Given the description of an element on the screen output the (x, y) to click on. 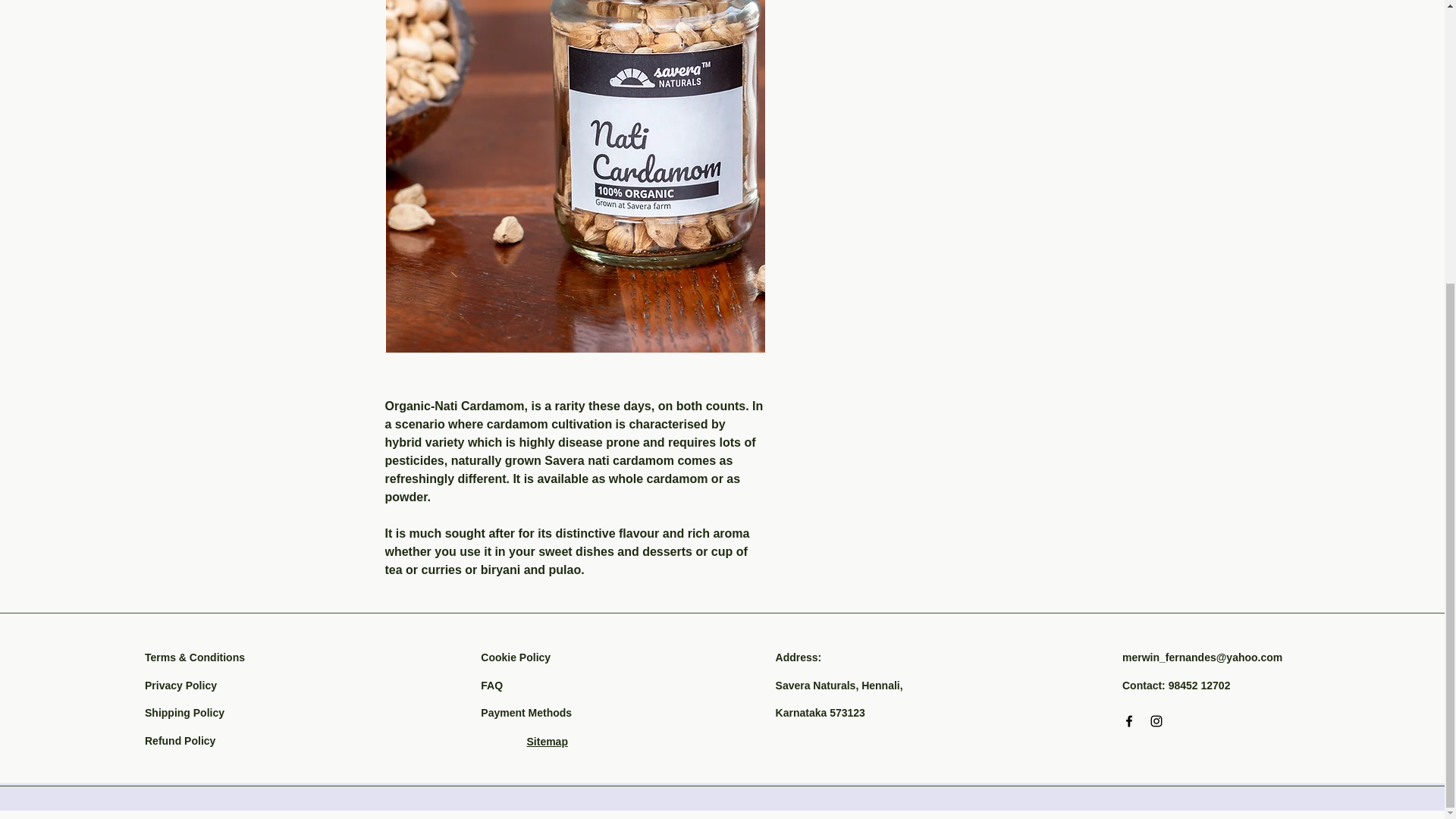
Cookie Policy (515, 657)
Sitemap (546, 741)
Refund Policy (179, 740)
Shipping Policy (184, 712)
FAQ (491, 685)
Payment Methods (526, 712)
Privacy Policy (180, 685)
